Given the description of an element on the screen output the (x, y) to click on. 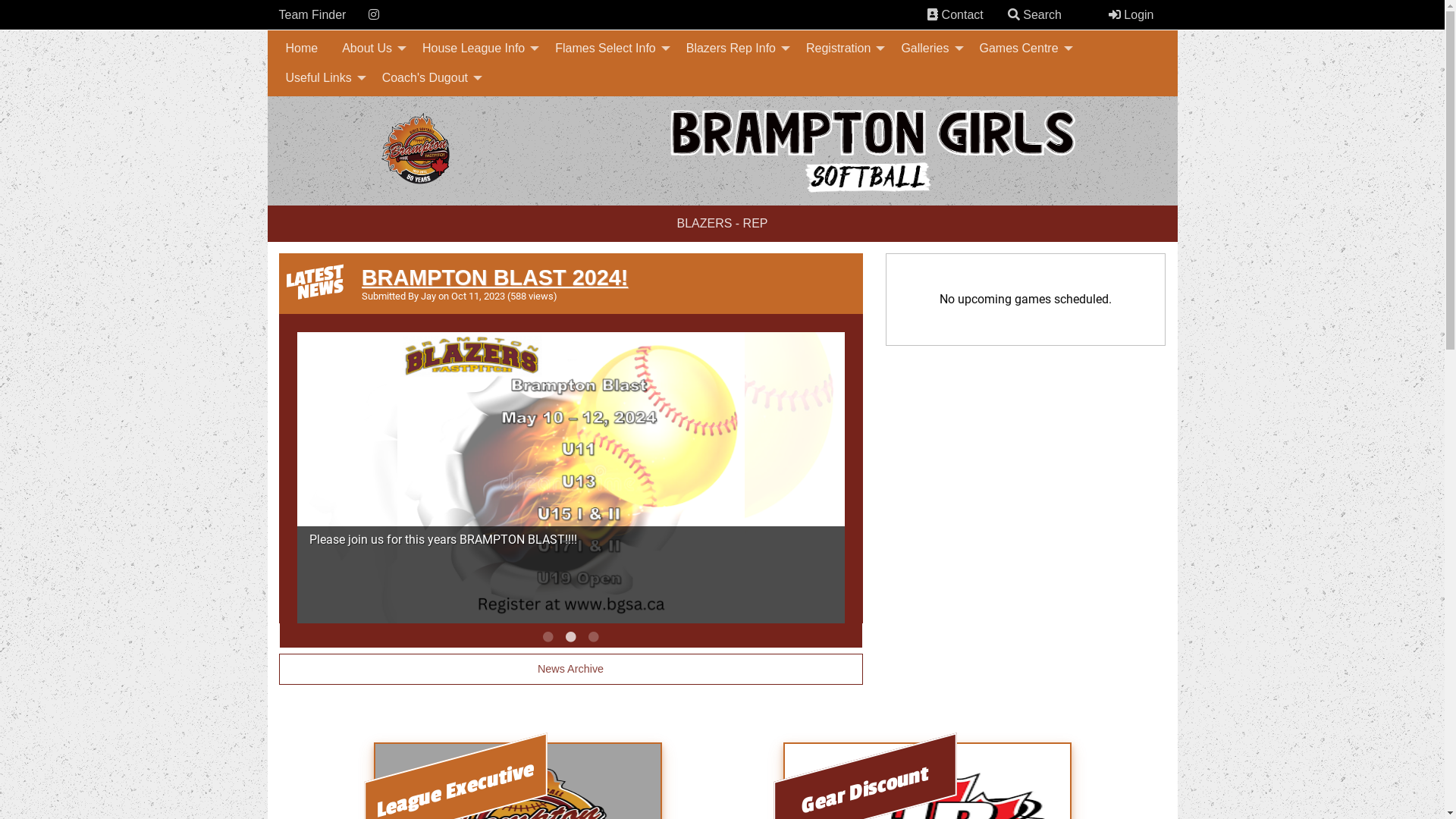
House League Info Element type: text (476, 48)
Galleries Element type: text (927, 48)
Team Finder Element type: text (312, 14)
 Contact Element type: text (955, 14)
Games Centre Element type: text (1021, 48)
Search Element type: hover (1013, 14)
 Search Element type: text (1034, 14)
Home Element type: text (301, 48)
Flames Select Info Element type: text (608, 48)
Contacts Element type: hover (932, 14)
Coach's Dugout Element type: text (428, 77)
3 Element type: text (592, 636)
News Archive Element type: text (570, 668)
Blazers Rep Info Element type: text (733, 48)
Instagram Element type: hover (373, 14)
Useful Links Element type: text (321, 77)
About Us Element type: text (369, 48)
BRAMPTON BLAST 2024! Element type: text (494, 277)
 Login Element type: text (1131, 14)
BLAZERS - REP Element type: text (721, 223)
1 Element type: text (547, 636)
Registration Element type: text (840, 48)
2 Element type: text (569, 636)
